Given the description of an element on the screen output the (x, y) to click on. 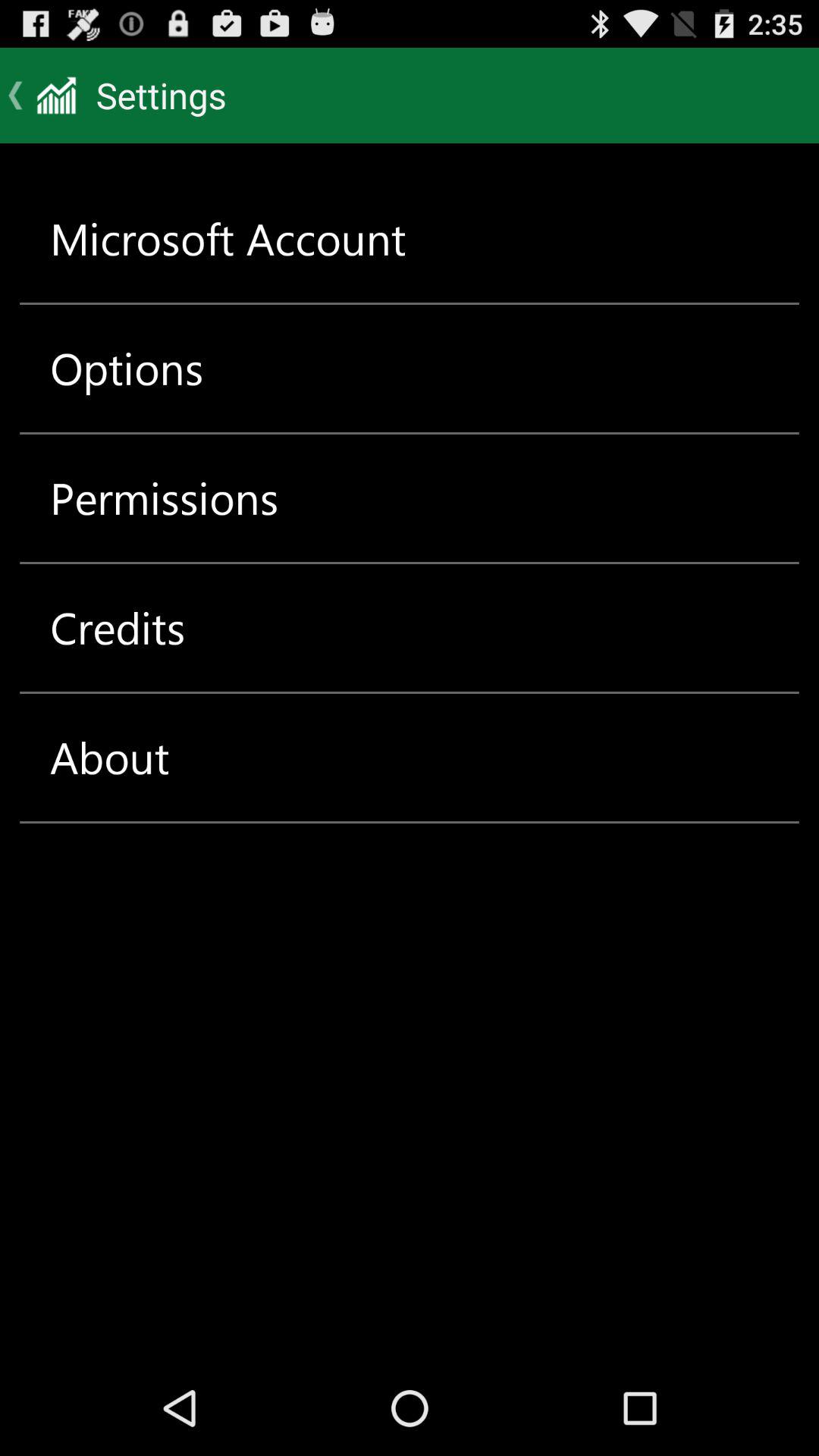
select item above the about icon (117, 627)
